Given the description of an element on the screen output the (x, y) to click on. 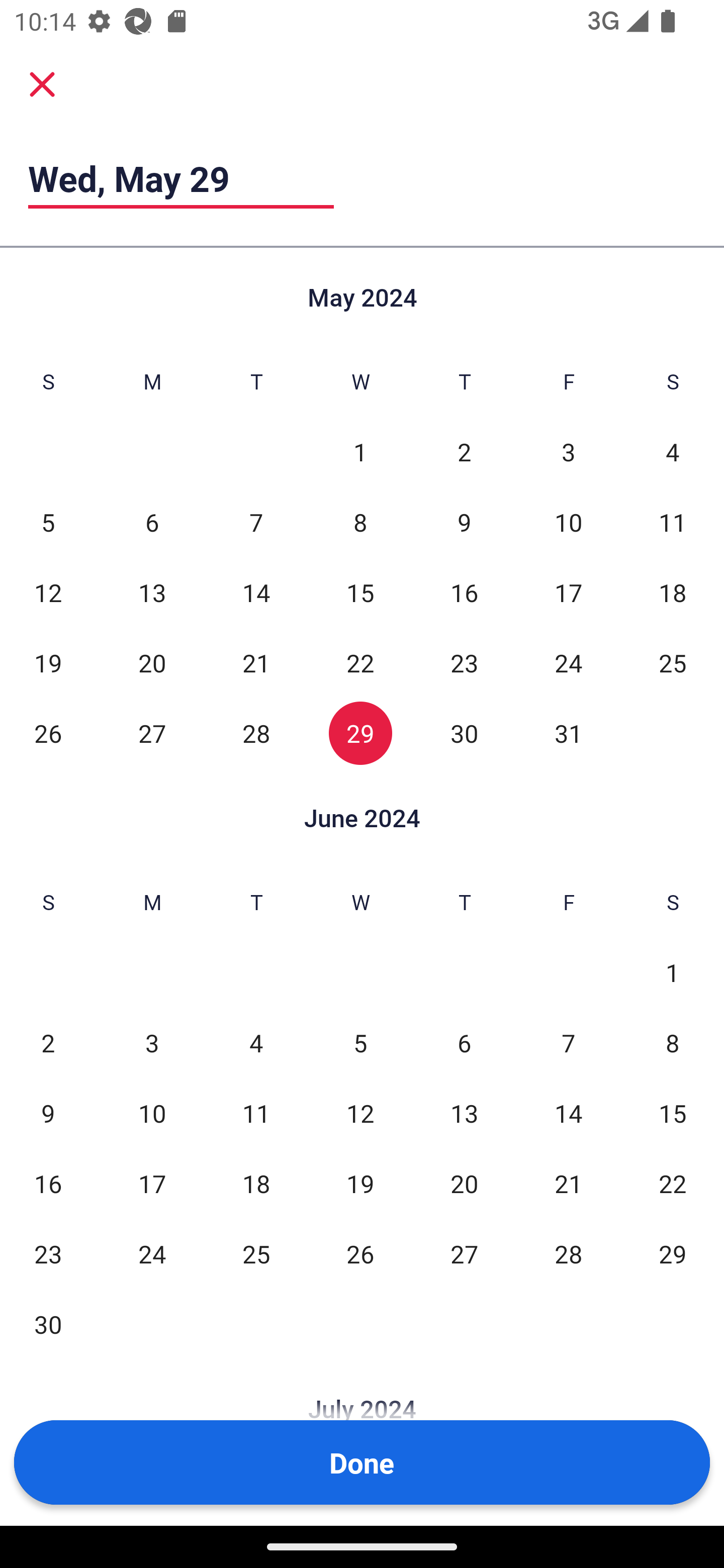
Cancel (41, 83)
Wed, May 29 (180, 178)
1 Wed, May 1, Not Selected (360, 452)
2 Thu, May 2, Not Selected (464, 452)
3 Fri, May 3, Not Selected (568, 452)
4 Sat, May 4, Not Selected (672, 452)
5 Sun, May 5, Not Selected (48, 521)
6 Mon, May 6, Not Selected (152, 521)
7 Tue, May 7, Not Selected (256, 521)
8 Wed, May 8, Not Selected (360, 521)
9 Thu, May 9, Not Selected (464, 521)
10 Fri, May 10, Not Selected (568, 521)
11 Sat, May 11, Not Selected (672, 521)
12 Sun, May 12, Not Selected (48, 591)
13 Mon, May 13, Not Selected (152, 591)
14 Tue, May 14, Not Selected (256, 591)
15 Wed, May 15, Not Selected (360, 591)
16 Thu, May 16, Not Selected (464, 591)
17 Fri, May 17, Not Selected (568, 591)
18 Sat, May 18, Not Selected (672, 591)
19 Sun, May 19, Not Selected (48, 662)
20 Mon, May 20, Not Selected (152, 662)
21 Tue, May 21, Not Selected (256, 662)
22 Wed, May 22, Not Selected (360, 662)
23 Thu, May 23, Not Selected (464, 662)
24 Fri, May 24, Not Selected (568, 662)
25 Sat, May 25, Not Selected (672, 662)
26 Sun, May 26, Not Selected (48, 732)
27 Mon, May 27, Not Selected (152, 732)
28 Tue, May 28, Not Selected (256, 732)
29 Wed, May 29, Selected (360, 732)
30 Thu, May 30, Not Selected (464, 732)
31 Fri, May 31, Not Selected (568, 732)
1 Sat, Jun 1, Not Selected (672, 972)
2 Sun, Jun 2, Not Selected (48, 1043)
3 Mon, Jun 3, Not Selected (152, 1043)
4 Tue, Jun 4, Not Selected (256, 1043)
5 Wed, Jun 5, Not Selected (360, 1043)
6 Thu, Jun 6, Not Selected (464, 1043)
7 Fri, Jun 7, Not Selected (568, 1043)
8 Sat, Jun 8, Not Selected (672, 1043)
9 Sun, Jun 9, Not Selected (48, 1112)
10 Mon, Jun 10, Not Selected (152, 1112)
11 Tue, Jun 11, Not Selected (256, 1112)
12 Wed, Jun 12, Not Selected (360, 1112)
13 Thu, Jun 13, Not Selected (464, 1112)
14 Fri, Jun 14, Not Selected (568, 1112)
15 Sat, Jun 15, Not Selected (672, 1112)
16 Sun, Jun 16, Not Selected (48, 1182)
17 Mon, Jun 17, Not Selected (152, 1182)
18 Tue, Jun 18, Not Selected (256, 1182)
19 Wed, Jun 19, Not Selected (360, 1182)
20 Thu, Jun 20, Not Selected (464, 1182)
21 Fri, Jun 21, Not Selected (568, 1182)
22 Sat, Jun 22, Not Selected (672, 1182)
23 Sun, Jun 23, Not Selected (48, 1253)
24 Mon, Jun 24, Not Selected (152, 1253)
25 Tue, Jun 25, Not Selected (256, 1253)
26 Wed, Jun 26, Not Selected (360, 1253)
27 Thu, Jun 27, Not Selected (464, 1253)
28 Fri, Jun 28, Not Selected (568, 1253)
29 Sat, Jun 29, Not Selected (672, 1253)
30 Sun, Jun 30, Not Selected (48, 1323)
Done Button Done (361, 1462)
